Given the description of an element on the screen output the (x, y) to click on. 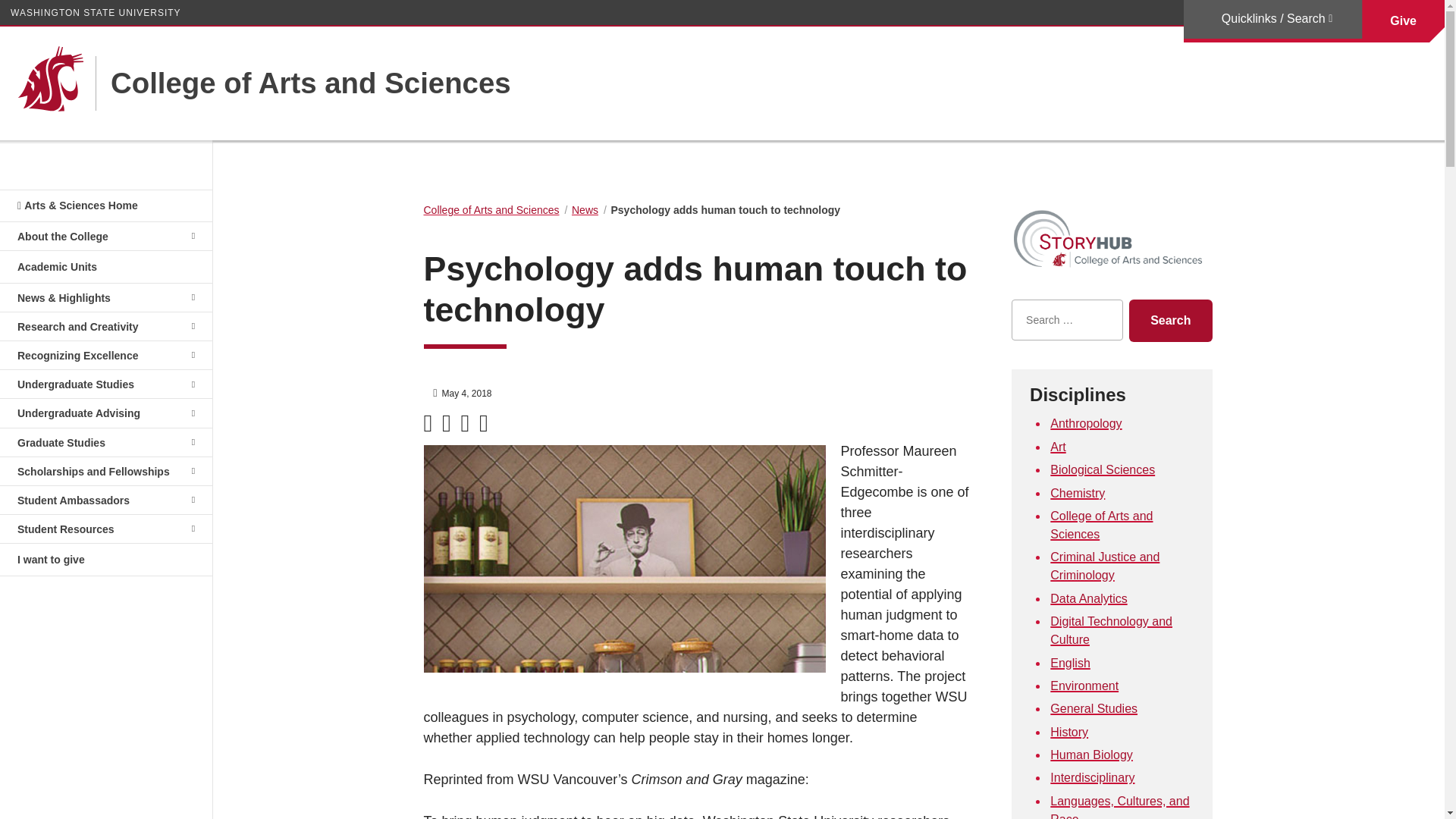
College of Arts and Sciences (303, 83)
WASHINGTON STATE UNIVERSITY (96, 12)
Go to News. (585, 209)
Go to College of Arts and Sciences. (491, 209)
Search (1170, 320)
Search (1170, 320)
